Given the description of an element on the screen output the (x, y) to click on. 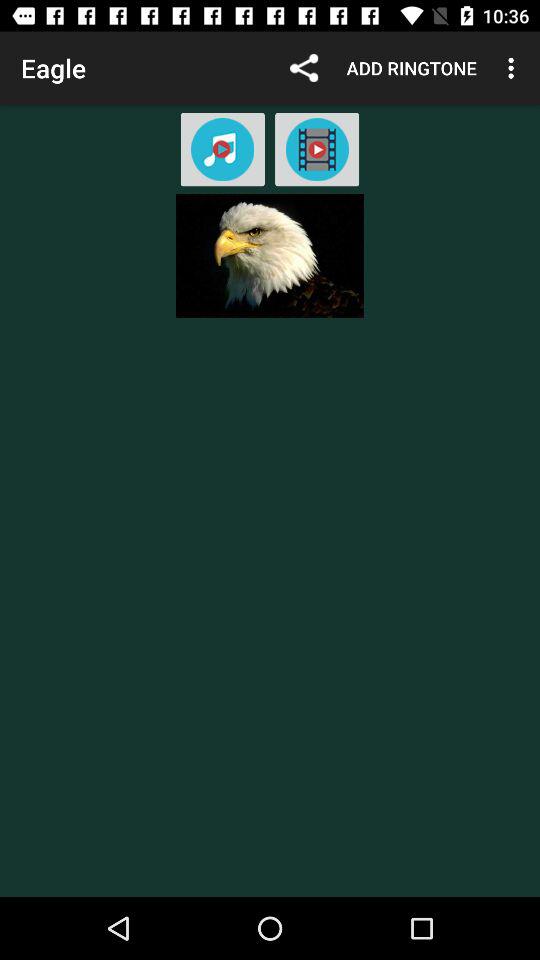
launch the icon next to add ringtone (513, 67)
